Given the description of an element on the screen output the (x, y) to click on. 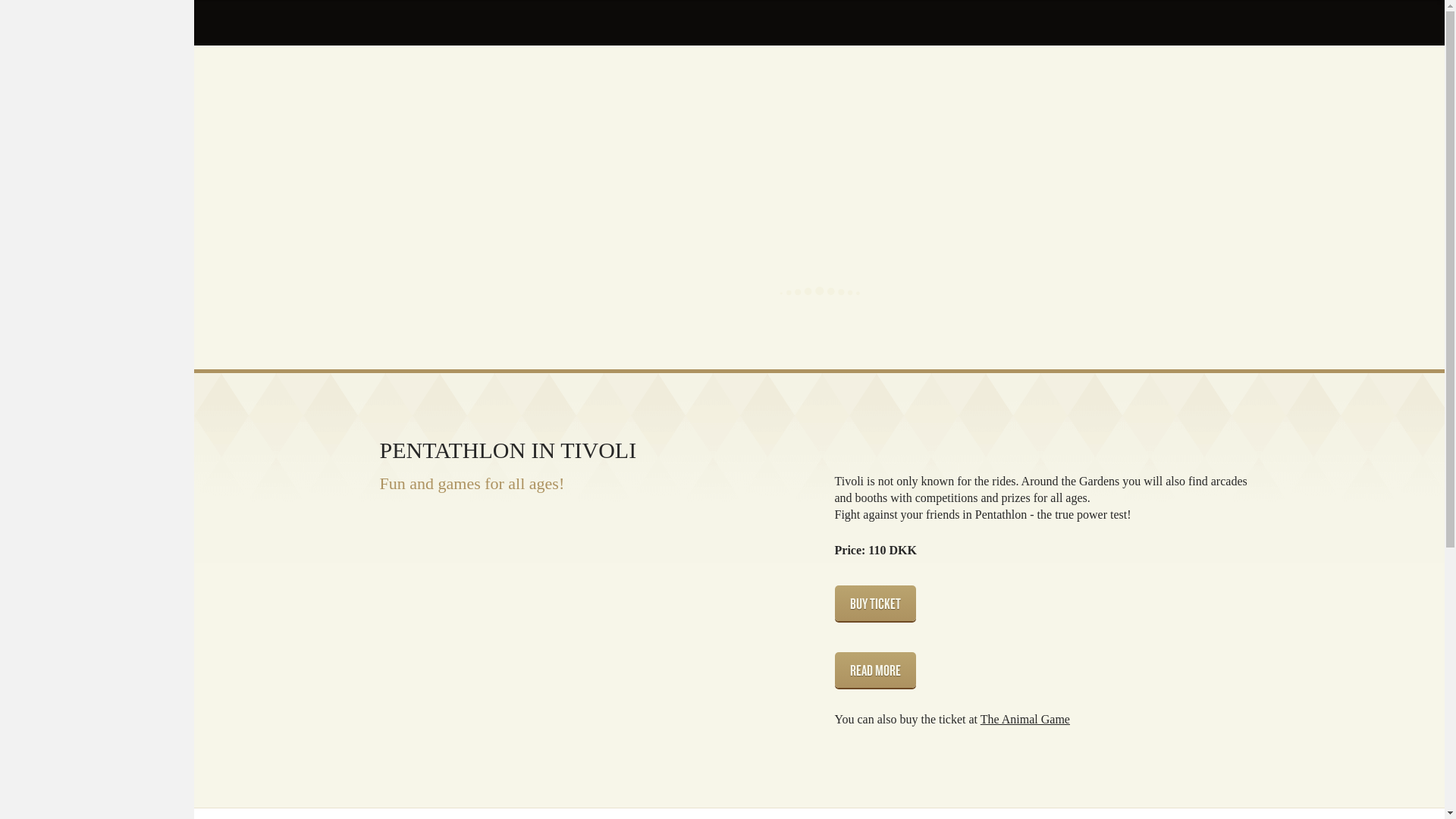
READ MORE (874, 669)
The Animal Game (1024, 718)
BUY TICKET (874, 602)
